Given the description of an element on the screen output the (x, y) to click on. 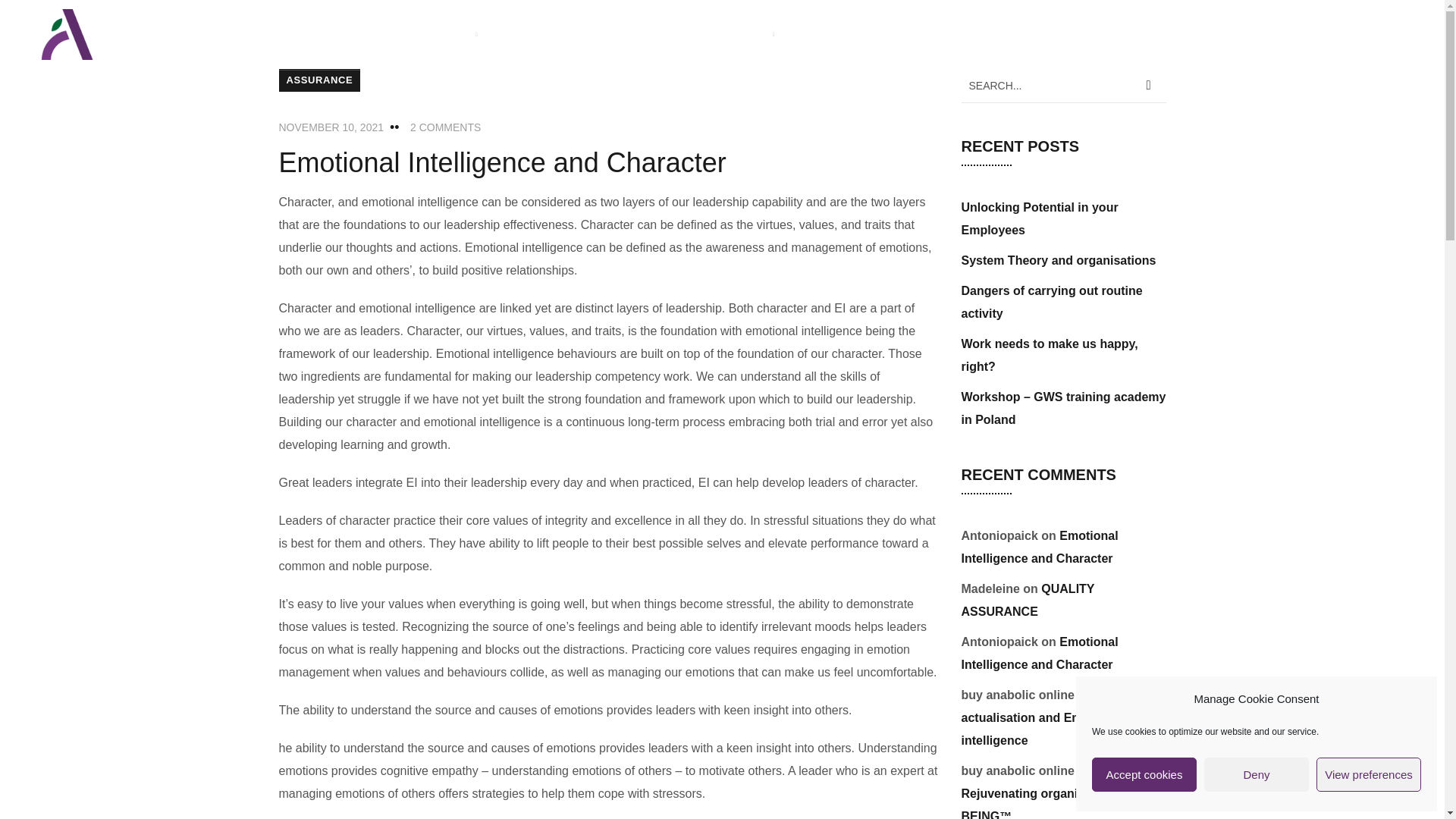
Accept cookies (1144, 774)
PROGRAMMES (547, 34)
OUR PEOPLE (437, 34)
View preferences (1368, 774)
Deny (1256, 774)
EDUCATION (737, 34)
SUPPORTING OUR MILITARY (953, 34)
